Given the description of an element on the screen output the (x, y) to click on. 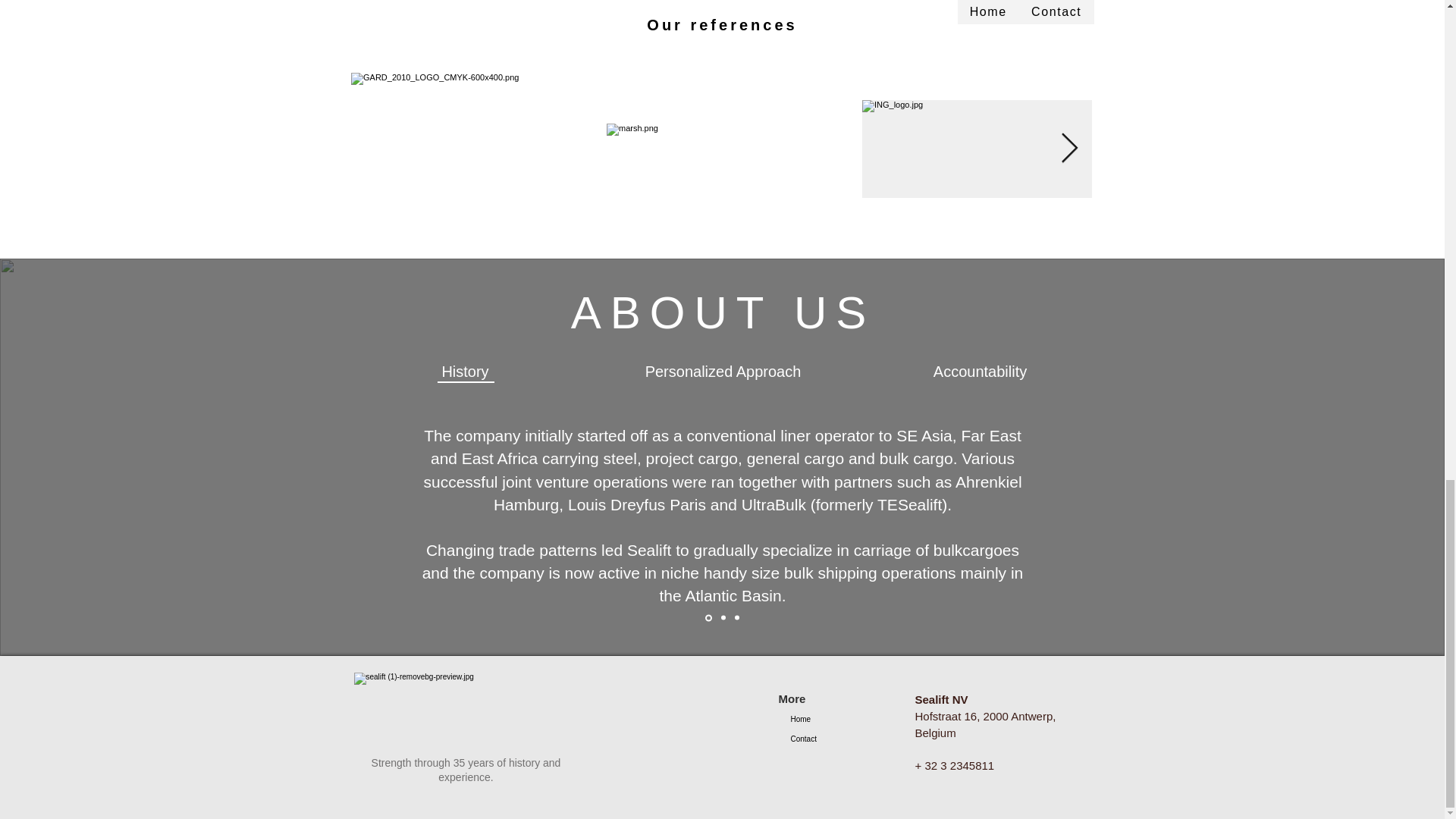
Home (829, 719)
Contact (829, 739)
